Given the description of an element on the screen output the (x, y) to click on. 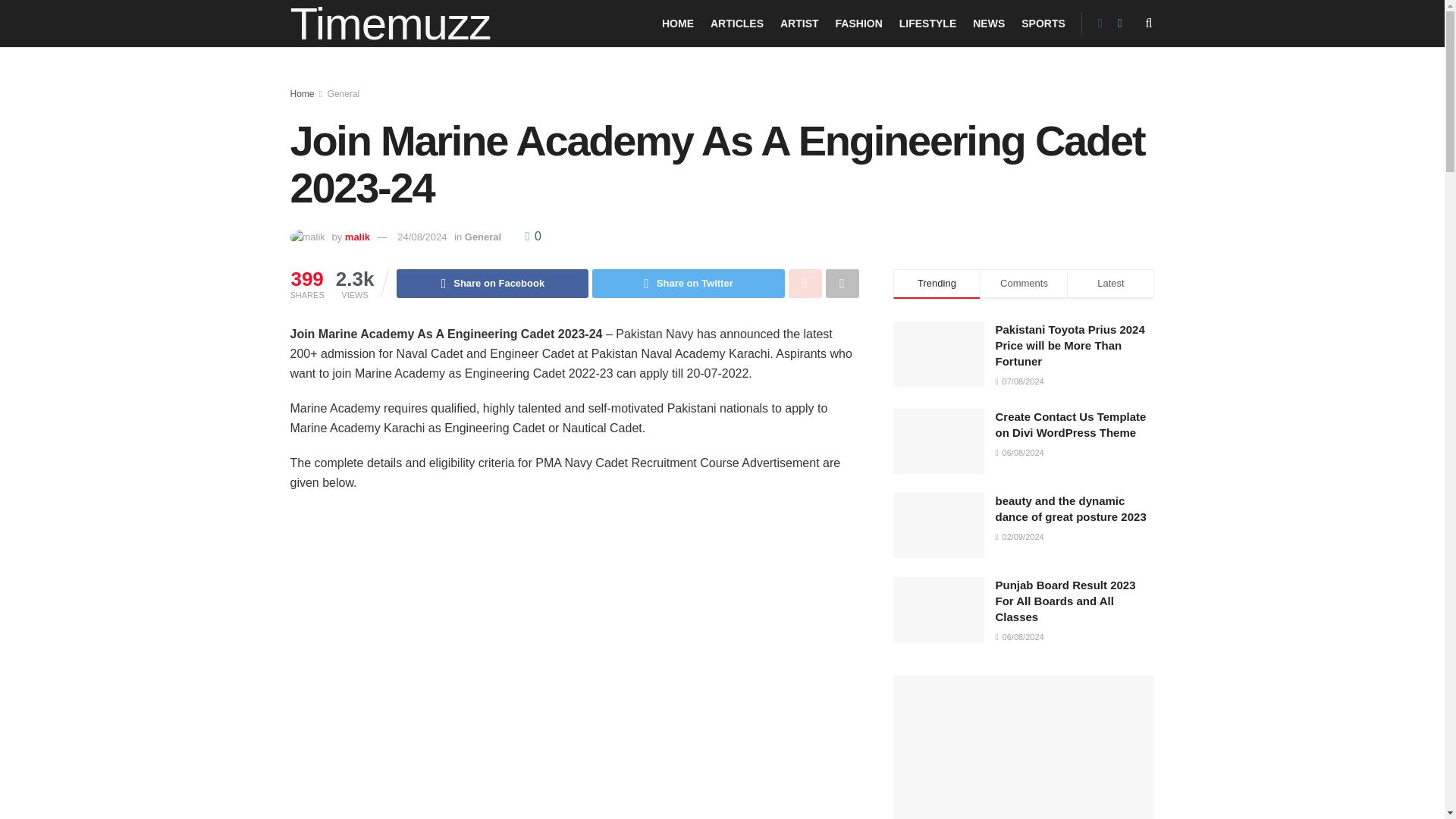
Home (301, 93)
FASHION (858, 23)
General (343, 93)
LIFESTYLE (927, 23)
malik (357, 236)
ARTICLES (736, 23)
SPORTS (1043, 23)
Timemuzz (389, 23)
Share on Twitter (688, 283)
Share on Facebook (492, 283)
